Given the description of an element on the screen output the (x, y) to click on. 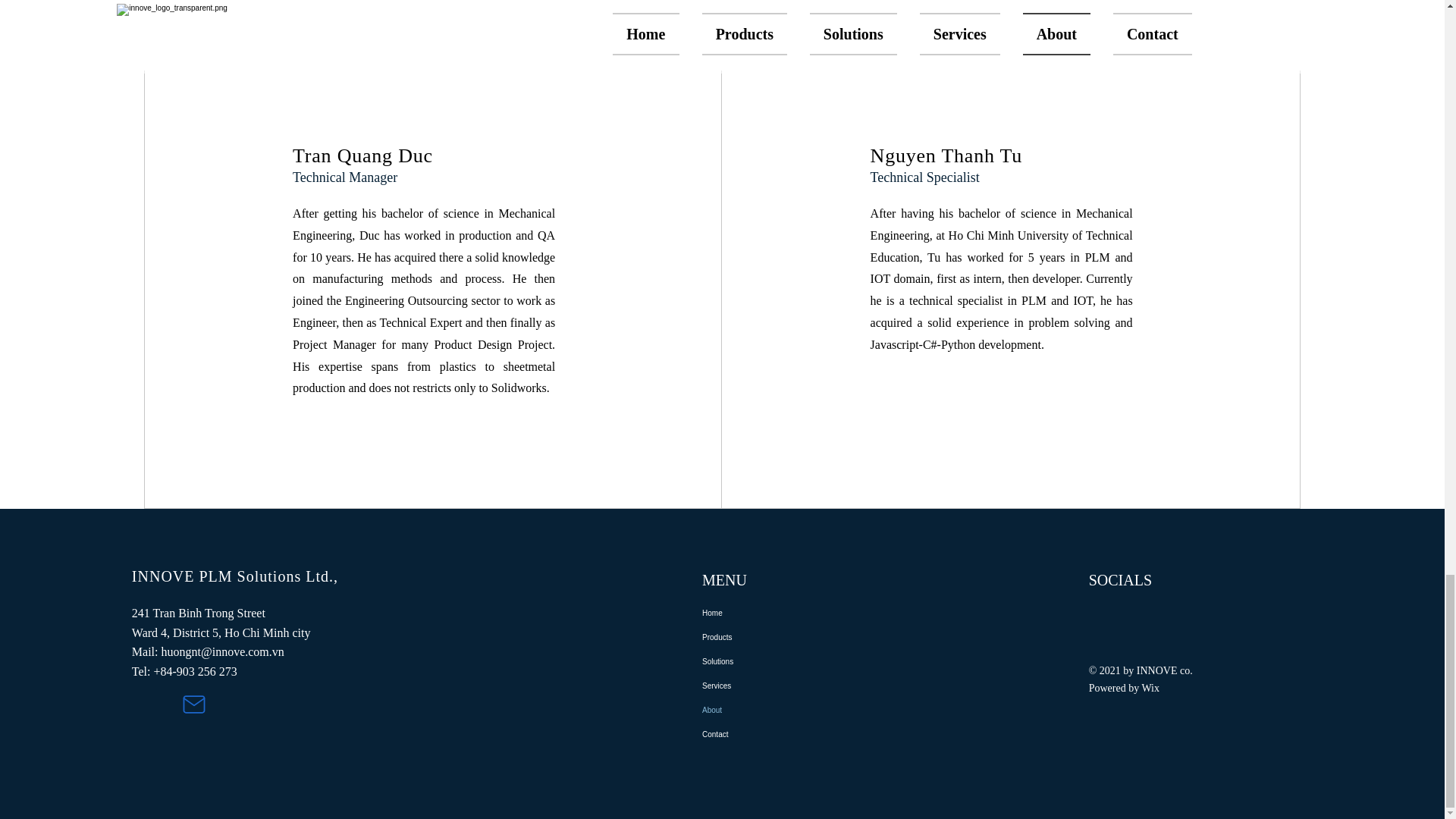
INNOVE PLM Solutions Ltd., (234, 576)
Services (804, 686)
Solutions (804, 662)
Products (804, 637)
About (804, 710)
Contact (804, 734)
Home (804, 613)
